Given the description of an element on the screen output the (x, y) to click on. 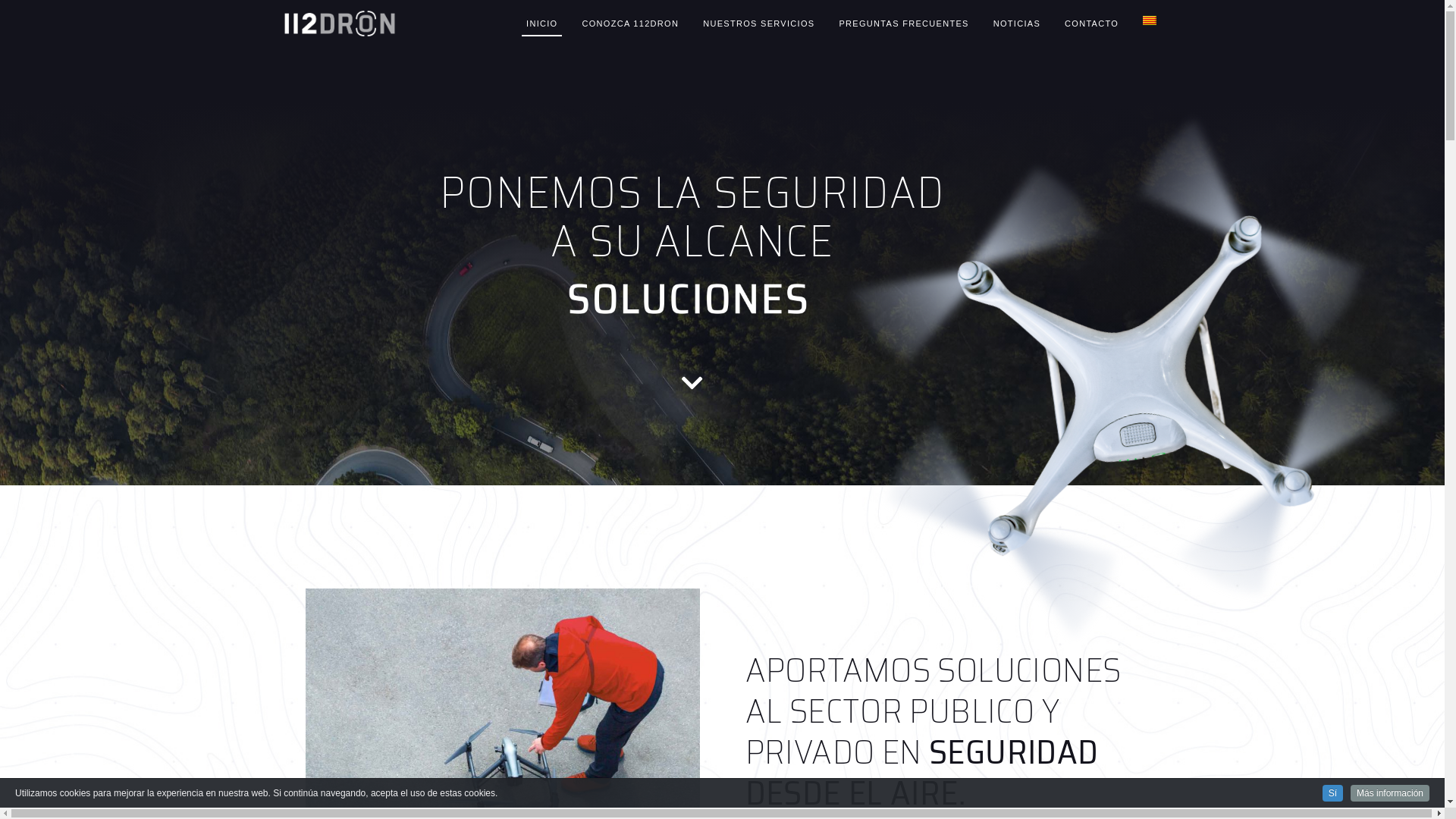
NUESTROS SERVICIOS Element type: text (758, 23)
NOTICIAS Element type: text (1016, 23)
INICIO Element type: text (541, 23)
CONOZCA 112DRON Element type: text (630, 23)
CONTACTO Element type: text (1091, 23)
PREGUNTAS FRECUENTES Element type: text (903, 23)
